Given the description of an element on the screen output the (x, y) to click on. 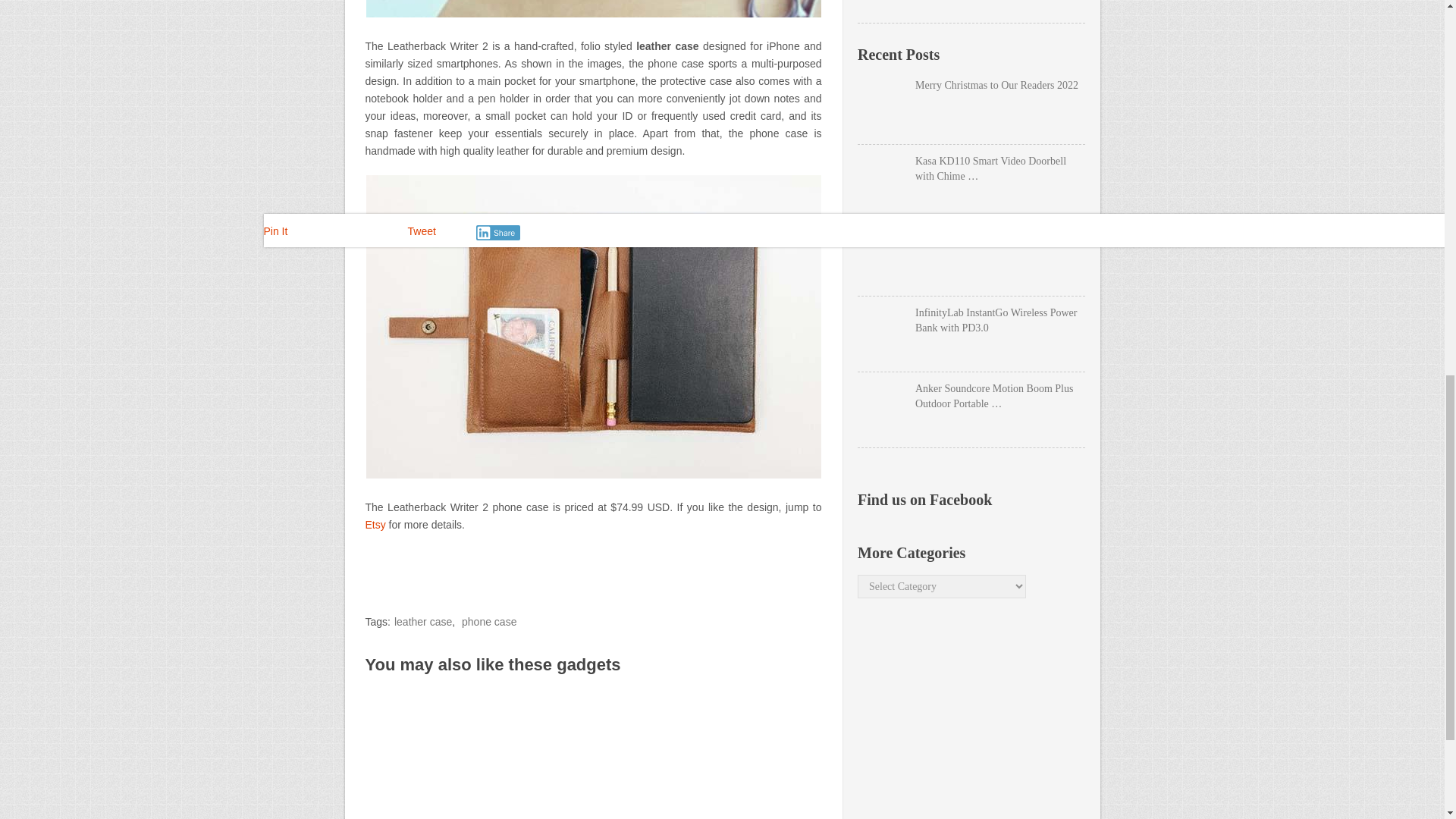
phone case (488, 621)
Etsy (375, 524)
leather case (422, 621)
